Given the description of an element on the screen output the (x, y) to click on. 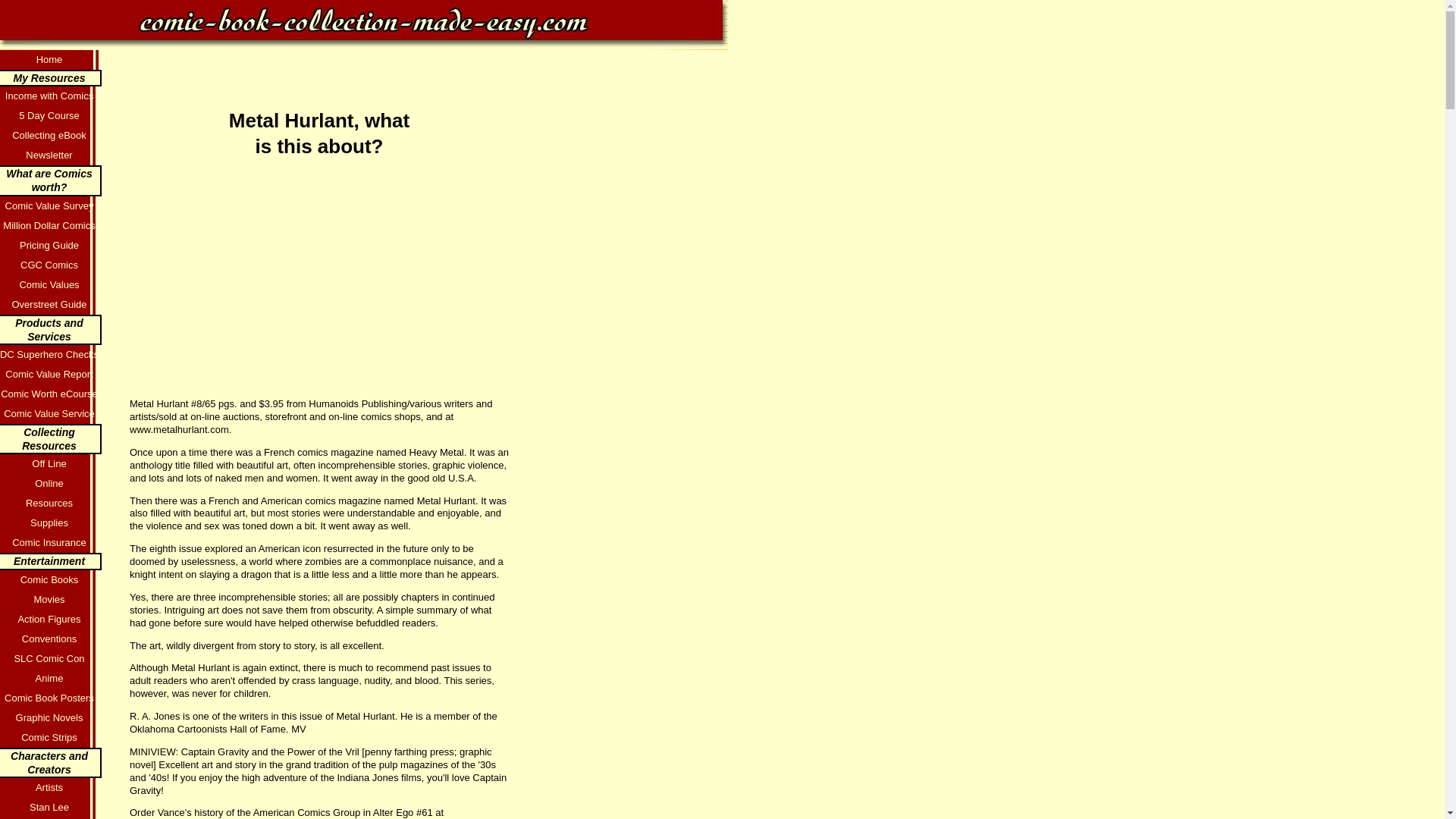
SLC Comic Con (50, 659)
Overstreet Guide (50, 304)
Artists (50, 787)
Anime (50, 678)
DC Superhero Checks (50, 354)
Comic Value Service (50, 414)
5 Day Course (50, 116)
Comic Values (50, 284)
Off Line (50, 464)
Comic Book Posters (50, 698)
